Given the description of an element on the screen output the (x, y) to click on. 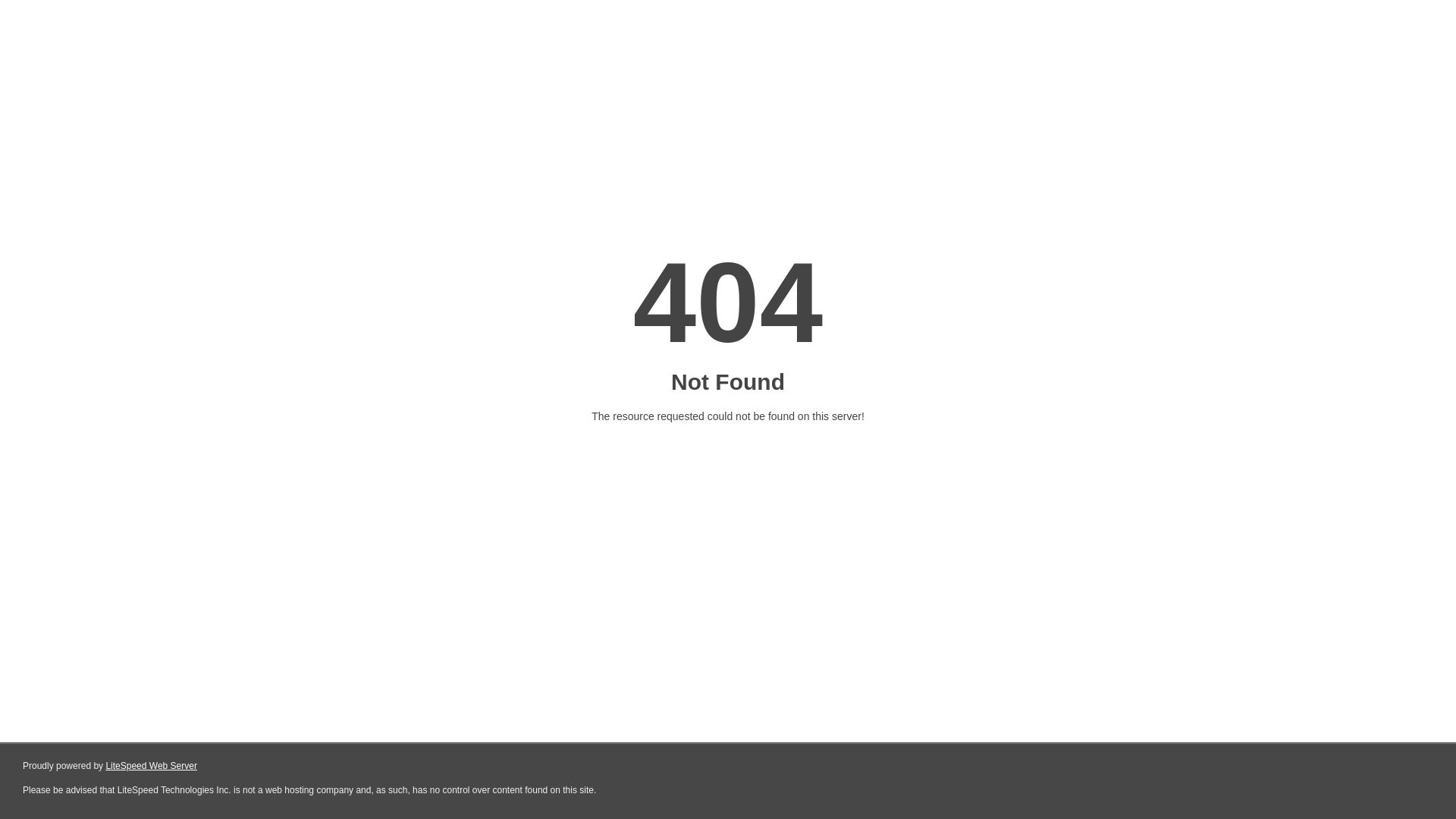
LiteSpeed Web Server Element type: text (151, 765)
